Given the description of an element on the screen output the (x, y) to click on. 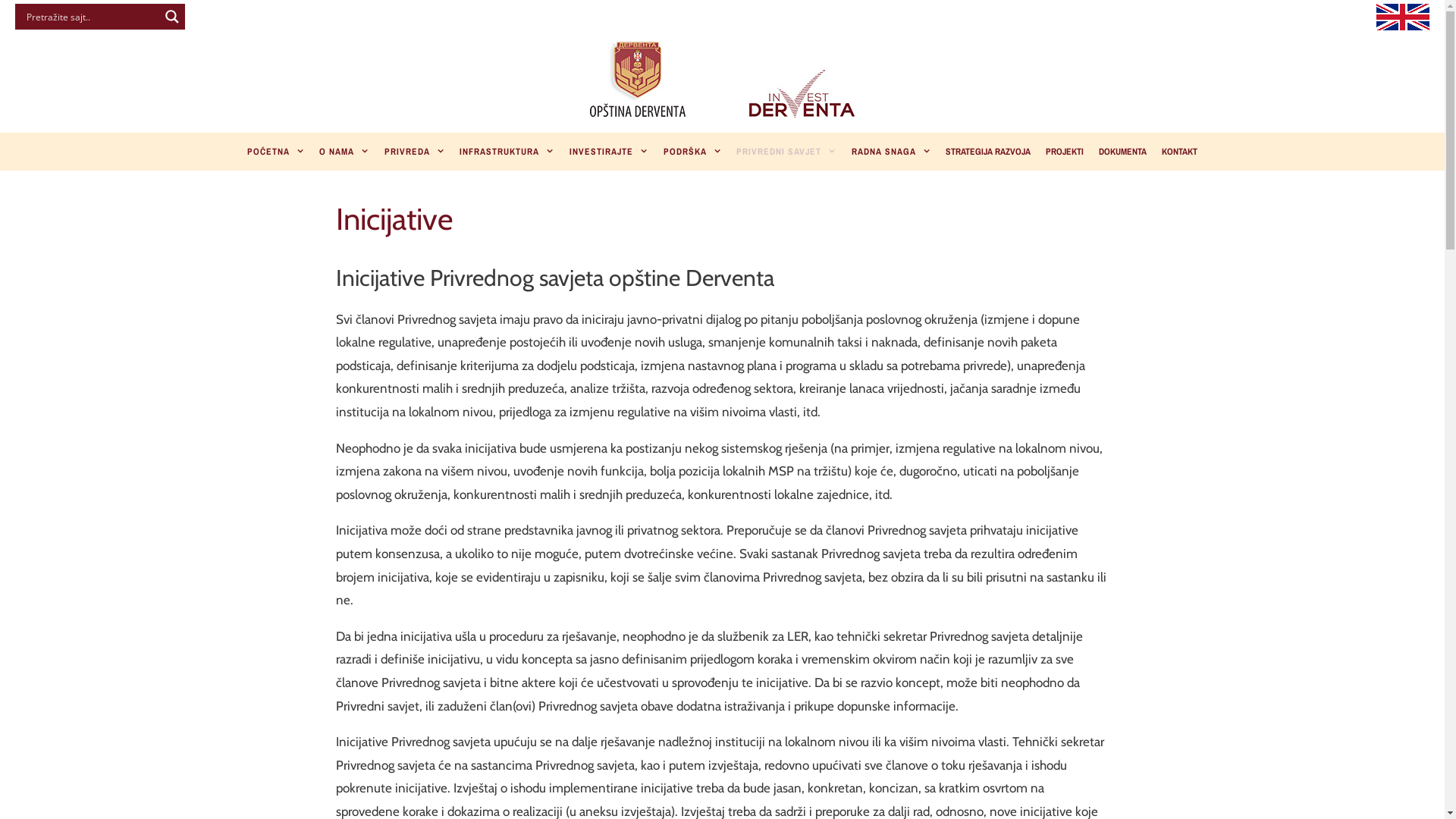
DOKUMENTA Element type: text (1122, 151)
RADNA SNAGA Element type: text (891, 151)
KONTAKT Element type: text (1179, 151)
PRIVREDA Element type: text (414, 151)
O NAMA Element type: text (343, 151)
PROJEKTI Element type: text (1064, 151)
STRATEGIJA RAZVOJA Element type: text (988, 151)
PRIVREDNI SAVJET Element type: text (786, 151)
Skip to content Element type: text (0, 0)
INVESTIRAJTE Element type: text (608, 151)
INFRASTRUKTURA Element type: text (506, 151)
